Given the description of an element on the screen output the (x, y) to click on. 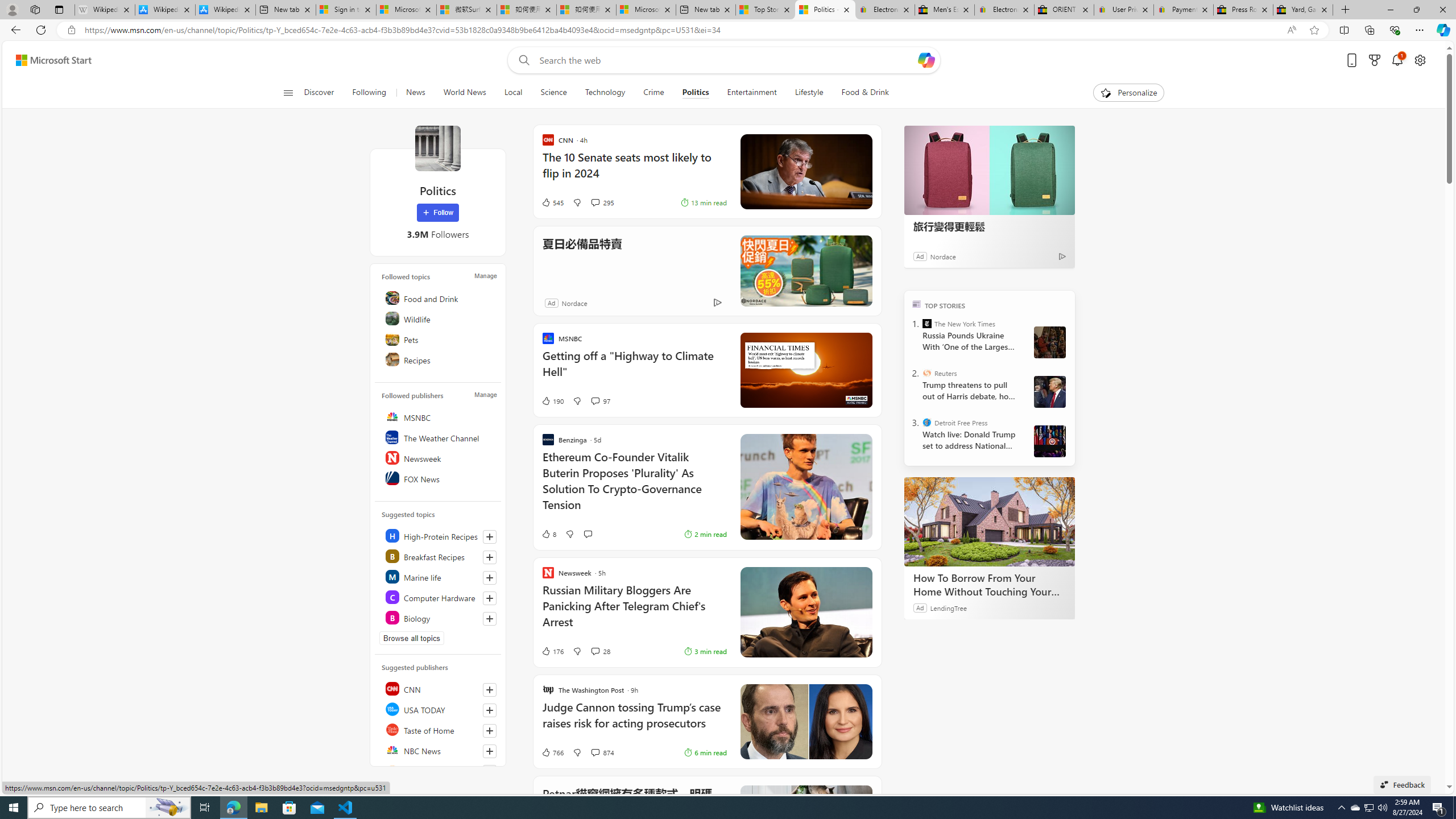
Class: hero-image (805, 369)
MSNBC (439, 416)
176 Like (551, 650)
